Given the description of an element on the screen output the (x, y) to click on. 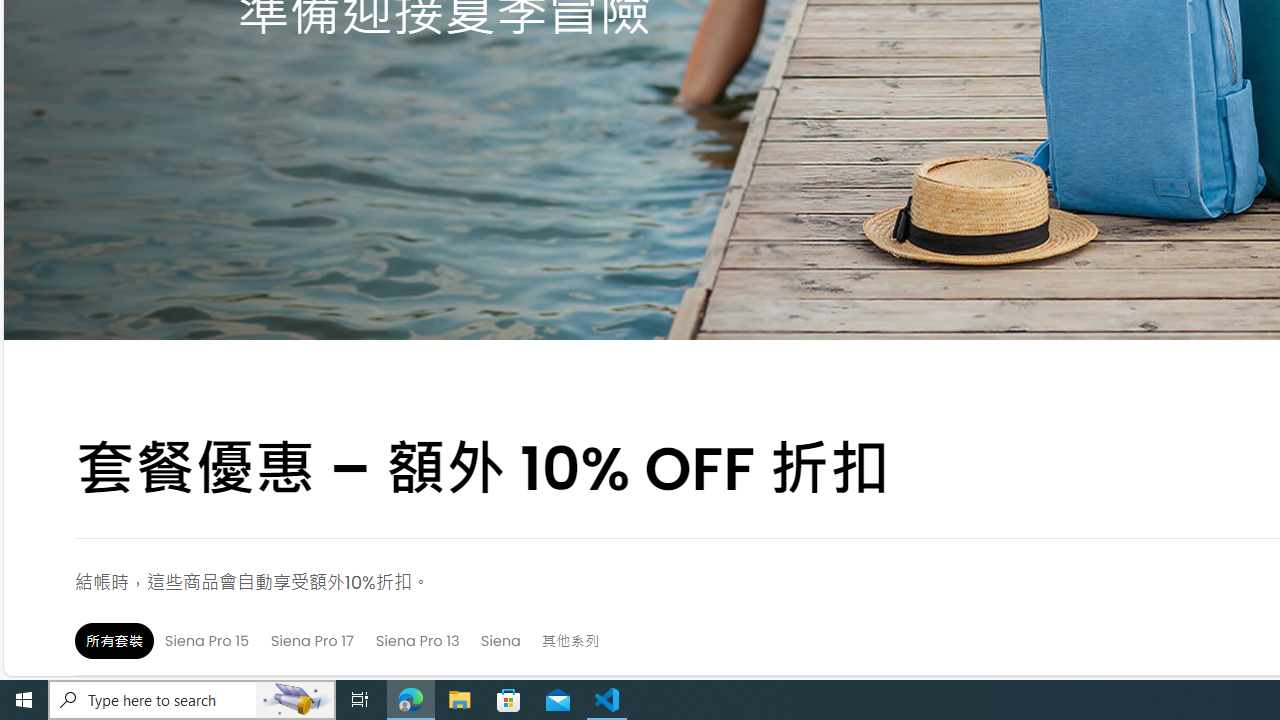
Siena Pro 13 (417, 640)
Siena Pro 13 (417, 640)
Siena Pro 17 (311, 640)
Siena Pro 15 (206, 640)
Siena (500, 640)
Siena Pro 17 (311, 640)
Siena Pro 15 (206, 640)
Siena (500, 640)
